Given the description of an element on the screen output the (x, y) to click on. 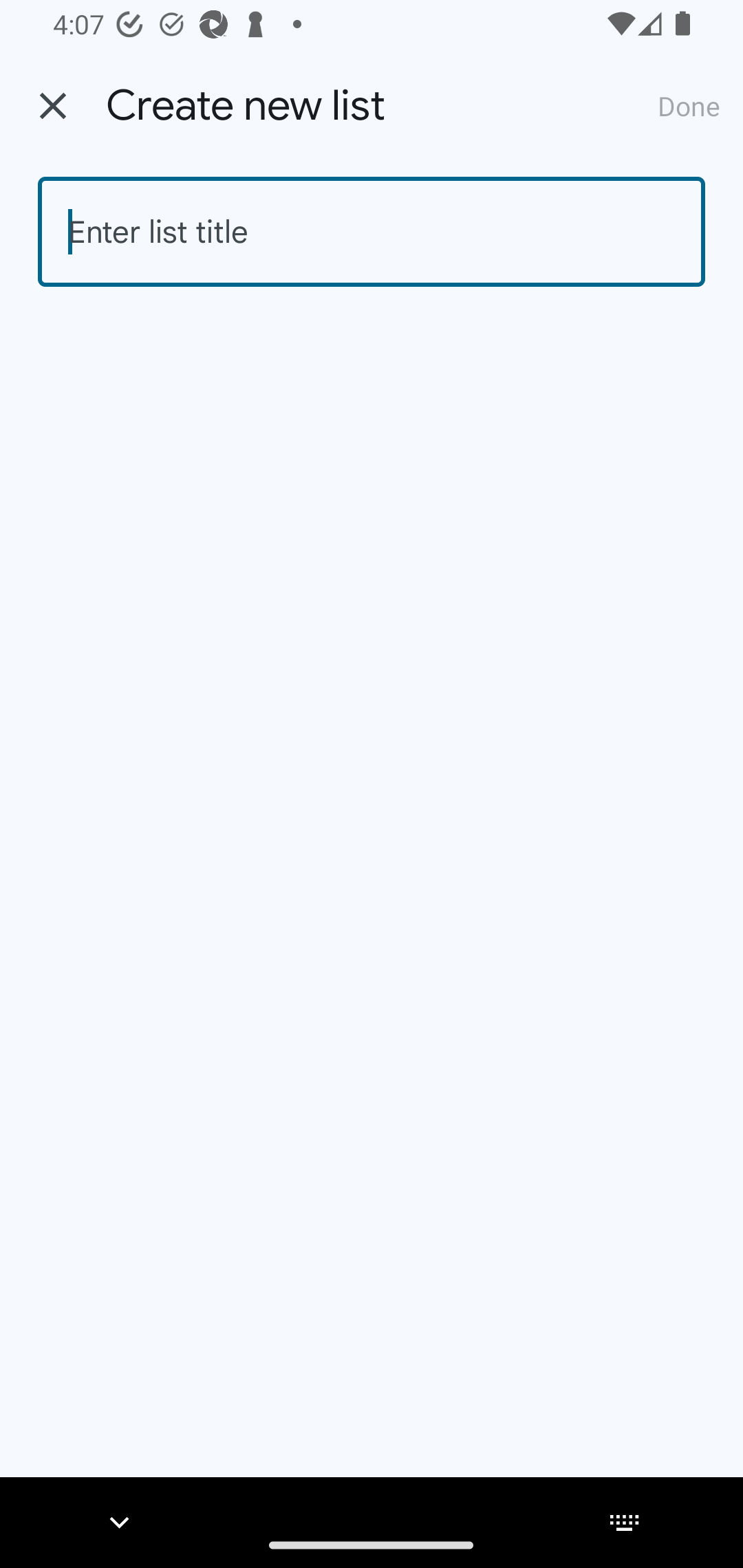
Back (53, 105)
Done (689, 105)
Enter list title (371, 231)
